Given the description of an element on the screen output the (x, y) to click on. 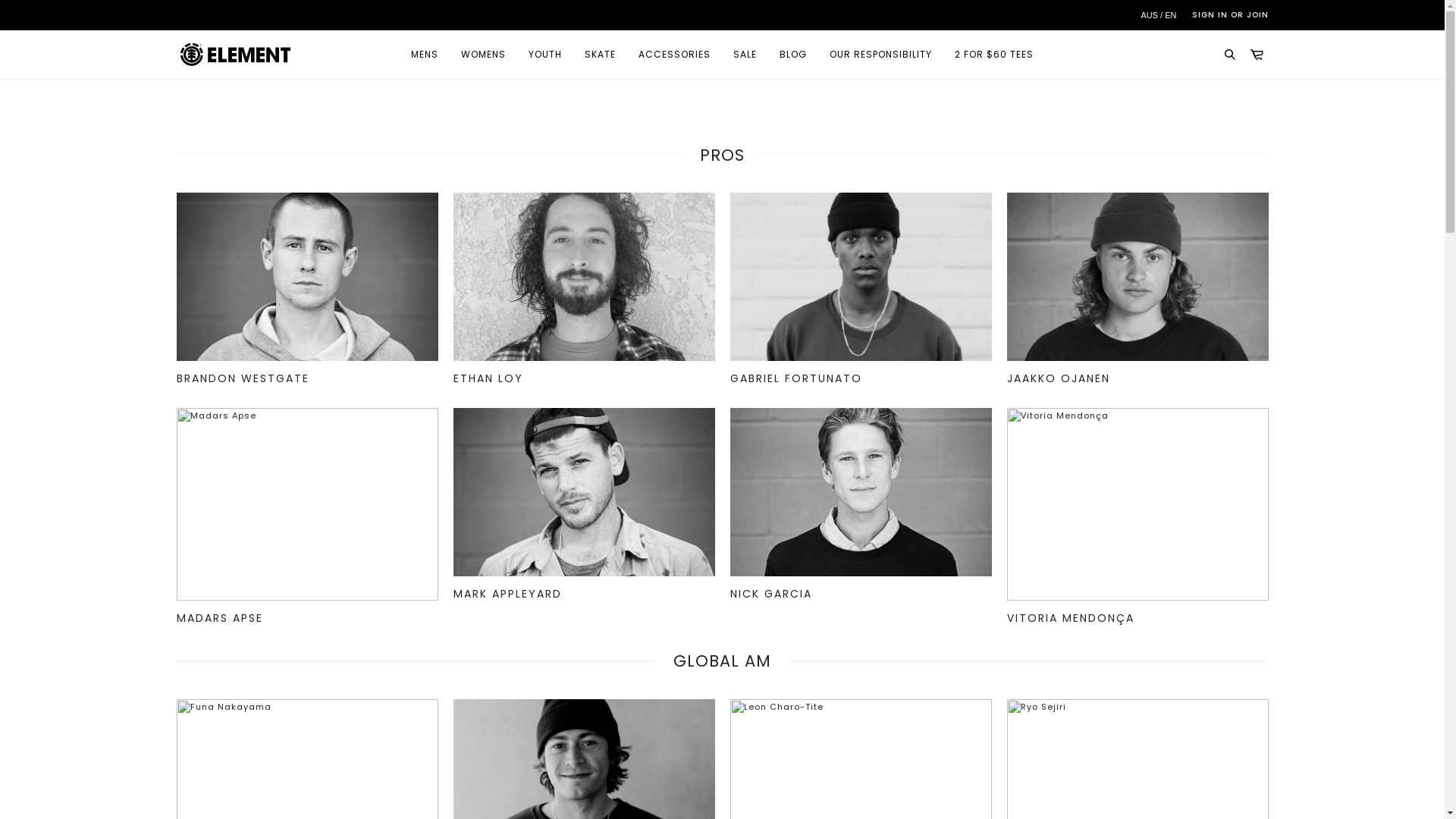
ACCESSORIES Element type: text (674, 54)
SALE Element type: text (744, 54)
OUR RESPONSIBILITY Element type: text (880, 54)
SIGN IN OR JOIN Element type: text (1230, 15)
YOUTH Element type: text (544, 54)
2 FOR $60 TEES Element type: text (994, 54)
MARK APPLEYARD Element type: text (507, 588)
ETHAN LOY Element type: text (488, 372)
Search Element type: text (1229, 54)
JAAKKO OJANEN Element type: text (1058, 372)
MENS Element type: text (424, 54)
MADARS APSE Element type: text (218, 612)
BRANDON WESTGATE Element type: text (241, 372)
Element Element type: hover (235, 54)
SKATE Element type: text (600, 54)
BLOG Element type: text (792, 54)
Cart Element type: hover (1257, 54)
GABRIEL FORTUNATO Element type: text (795, 372)
WOMENS Element type: text (483, 54)
NICK GARCIA Element type: text (770, 588)
AUS / EN Element type: text (1158, 15)
